Given the description of an element on the screen output the (x, y) to click on. 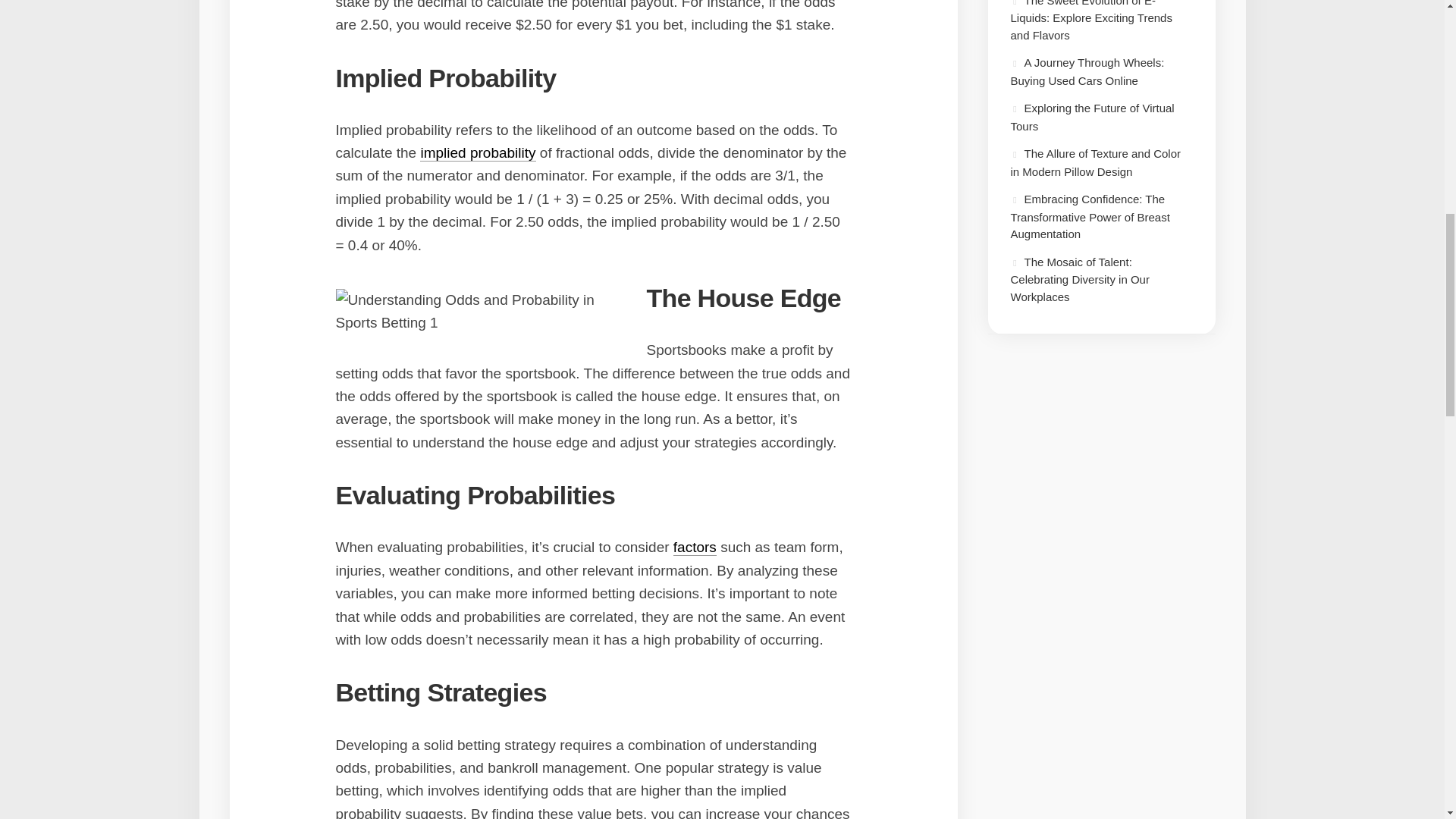
implied probability (477, 152)
The Allure of Texture and Color in Modern Pillow Design (1095, 162)
Exploring the Future of Virtual Tours (1091, 116)
A Journey Through Wheels: Buying Used Cars Online (1086, 71)
factors (694, 546)
